Given the description of an element on the screen output the (x, y) to click on. 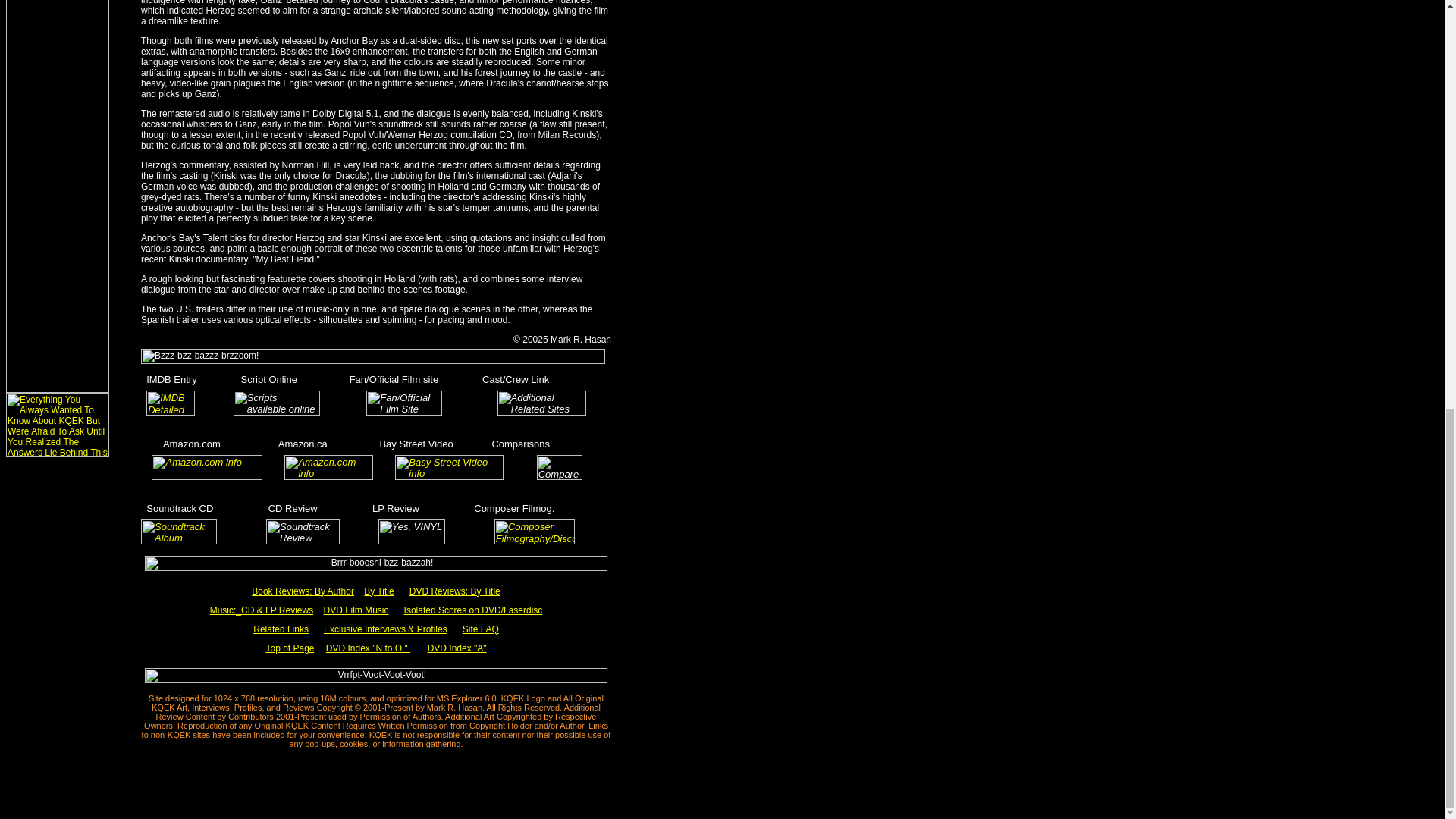
Top of Page (289, 647)
By Title (378, 590)
DVD Index "N to O " (368, 647)
DVD Reviews: By Title (454, 590)
Site FAQ (481, 628)
DVD Index "A" (457, 647)
DVD Film Music (355, 610)
Related Links (280, 628)
Book Reviews: By Author (302, 590)
